Given the description of an element on the screen output the (x, y) to click on. 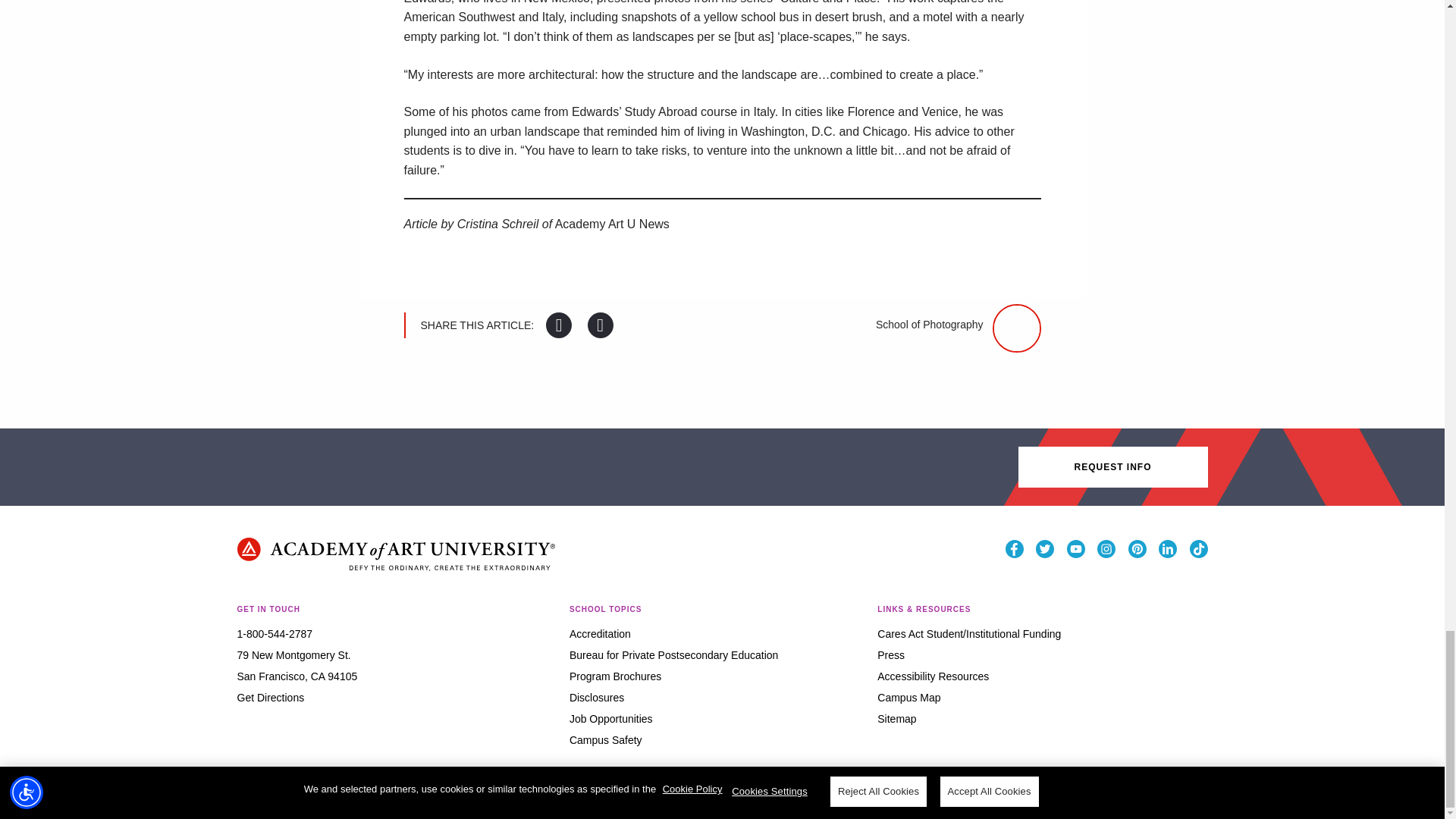
Academy of Art University Logo (394, 554)
